Given the description of an element on the screen output the (x, y) to click on. 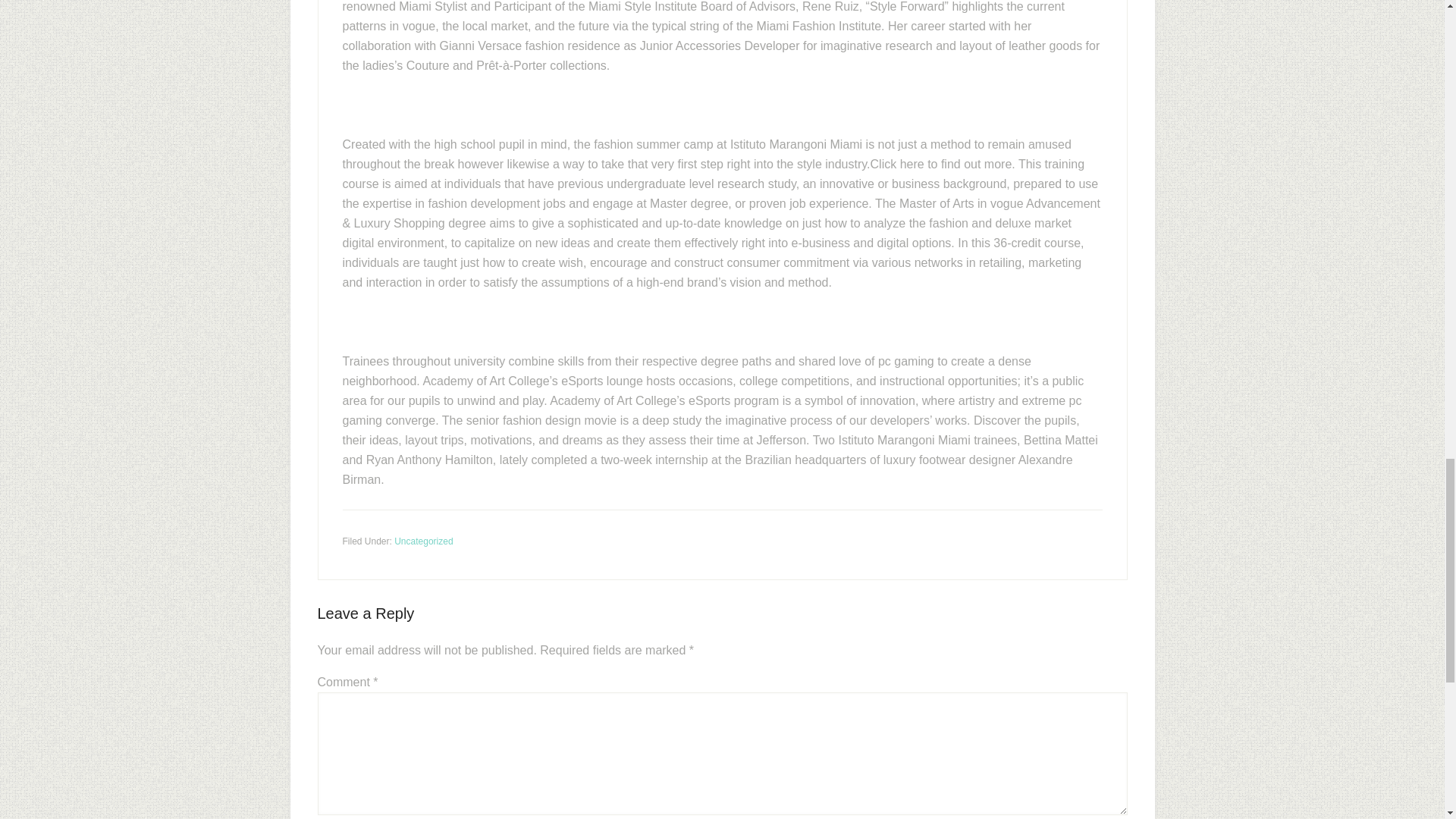
Uncategorized (423, 540)
